Given the description of an element on the screen output the (x, y) to click on. 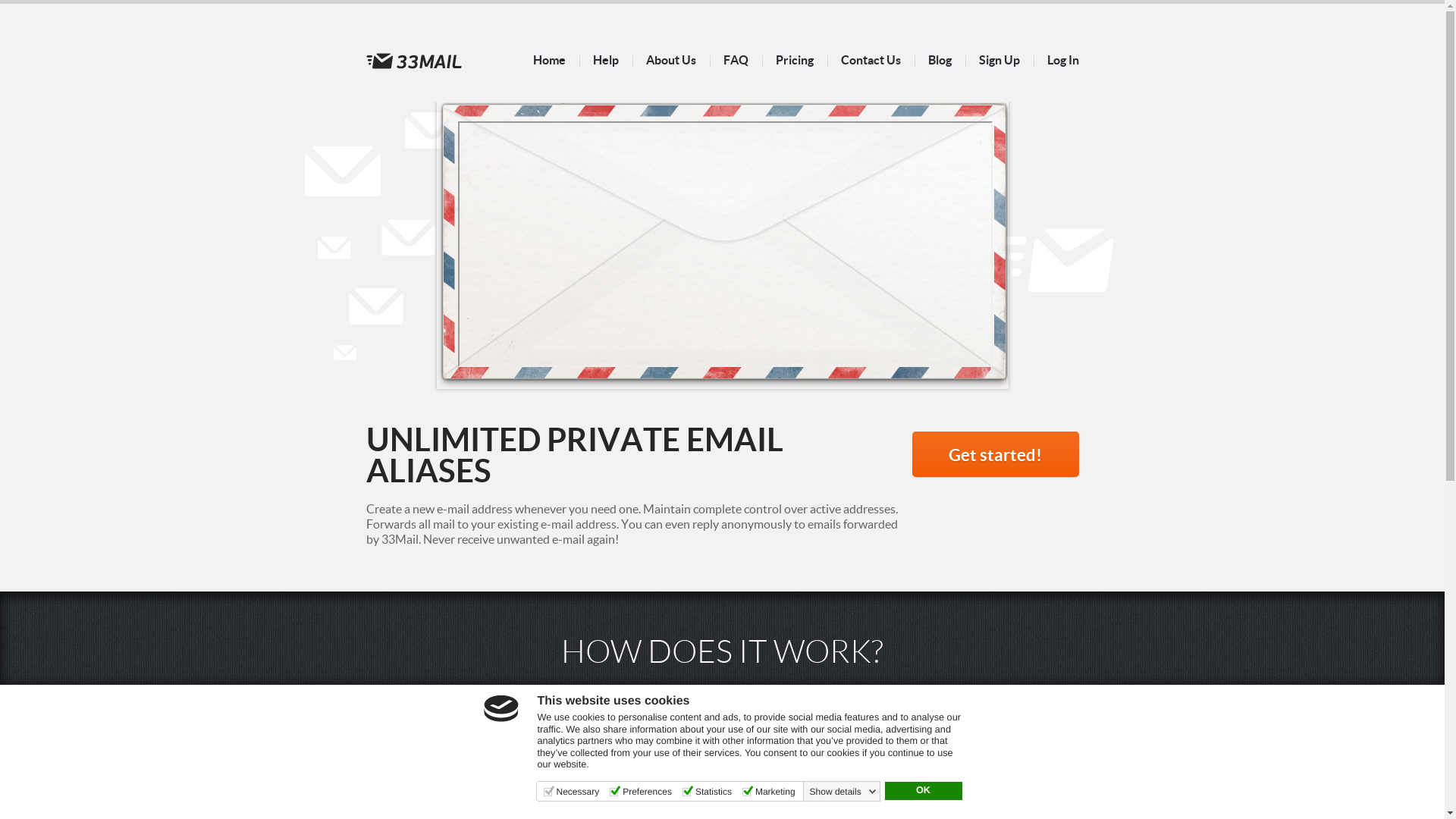
Home Element type: text (548, 59)
Blog Element type: text (939, 59)
Get started! Element type: text (994, 453)
33mail Element type: text (413, 61)
FAQ Element type: text (735, 59)
Sign Up Element type: text (998, 59)
Show details Element type: text (842, 791)
Help Element type: text (605, 59)
Log In Element type: text (1062, 59)
OK Element type: text (922, 790)
Pricing Element type: text (793, 59)
Contact Us Element type: text (870, 59)
About Us Element type: text (671, 59)
